Given the description of an element on the screen output the (x, y) to click on. 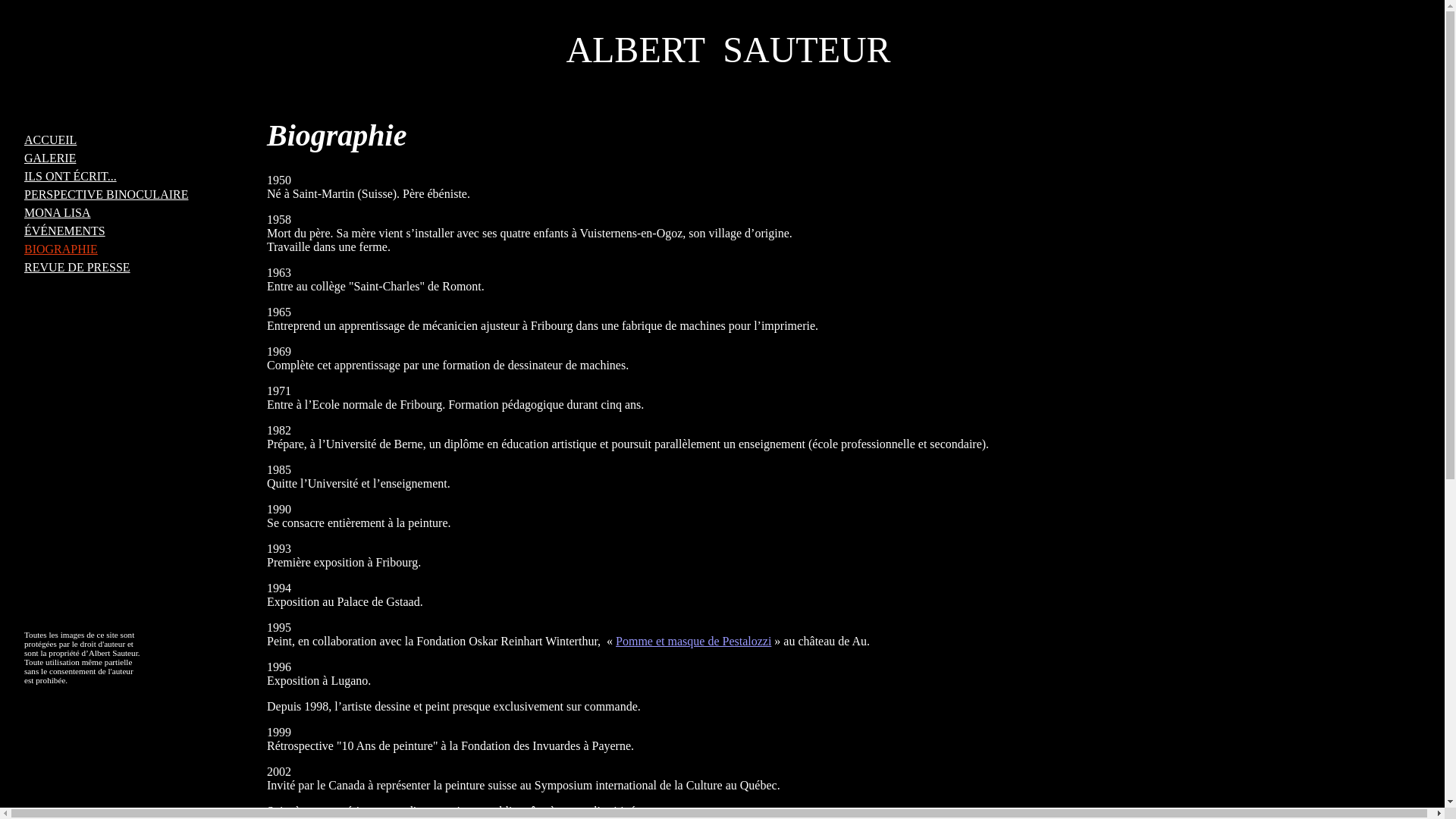
MONA LISA Element type: text (57, 212)
PERSPECTIVE BINOCULAIRE Element type: text (106, 194)
REVUE DE PRESSE Element type: text (77, 266)
GALERIE Element type: text (49, 157)
Pomme et masque de Pestalozzi Element type: text (693, 640)
ACCUEIL Element type: text (50, 139)
